Given the description of an element on the screen output the (x, y) to click on. 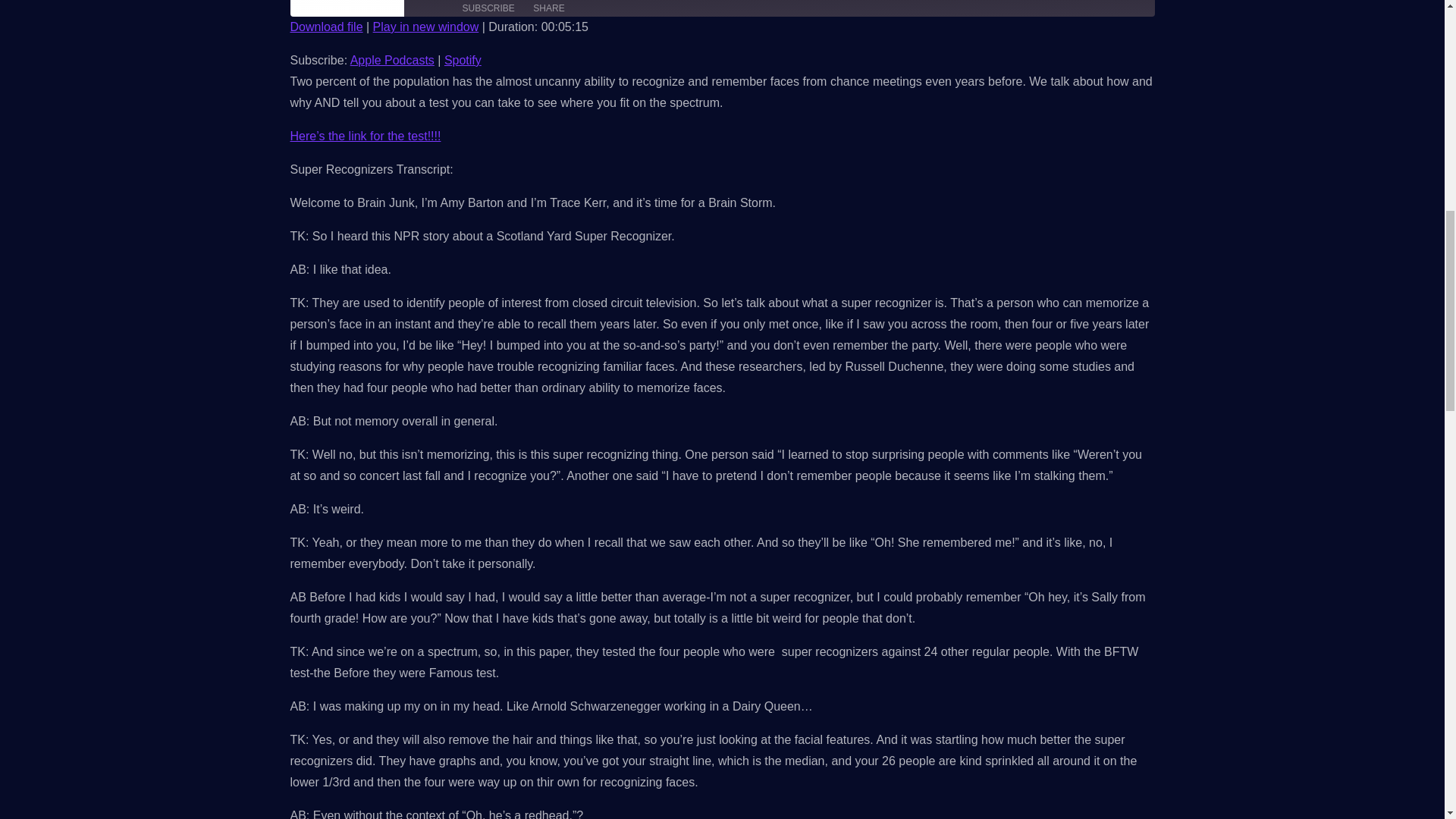
SHARE (548, 10)
Brain Junk (346, 8)
Subscribe (488, 10)
SUBSCRIBE (488, 10)
Play in new window (425, 26)
Share (548, 10)
Spotify (462, 60)
Apple Podcasts (391, 60)
Download file (325, 26)
